Given the description of an element on the screen output the (x, y) to click on. 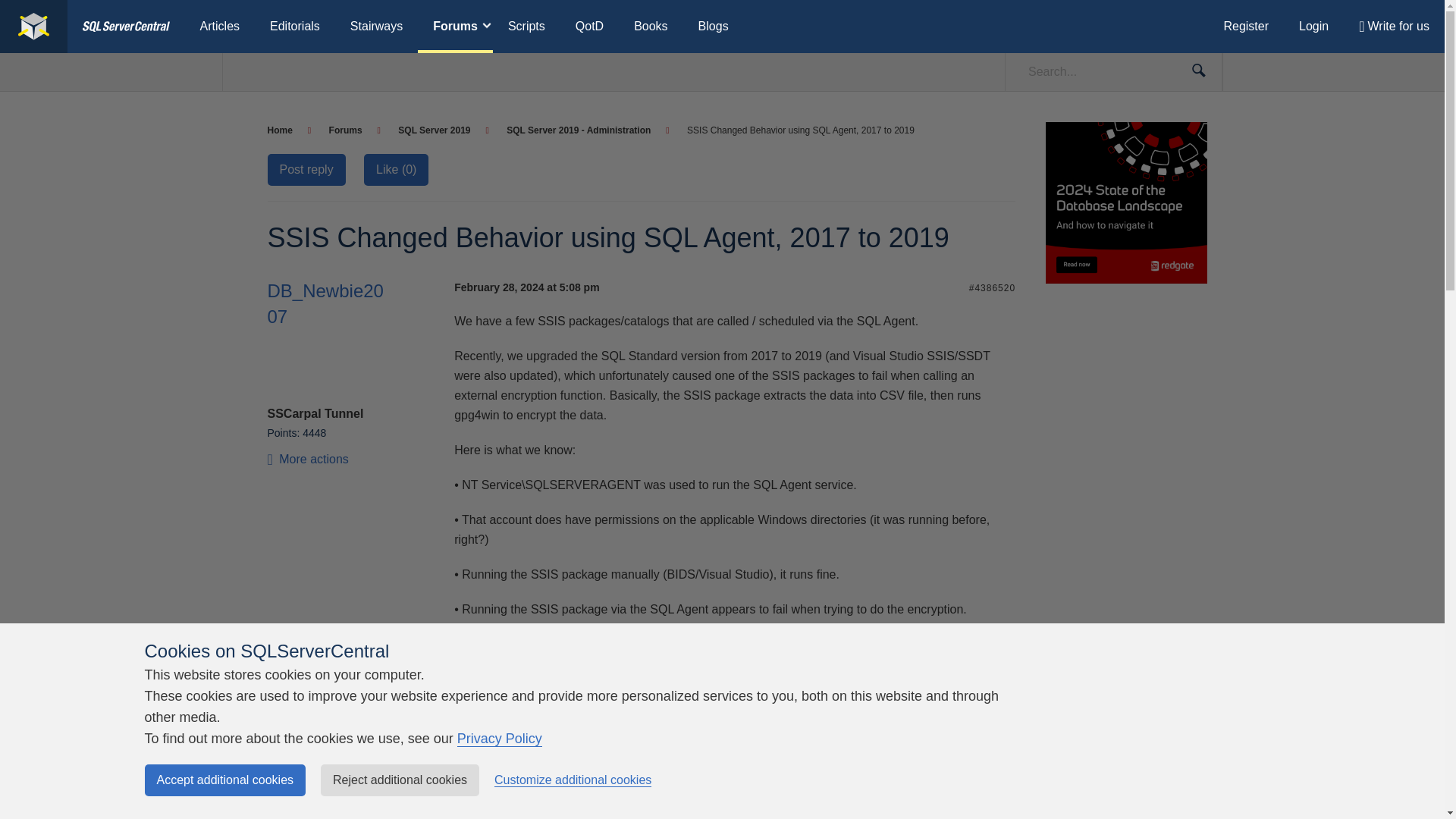
Register (1246, 26)
QotD (589, 26)
Scripts (526, 26)
Books (650, 26)
Home (288, 130)
Login (1313, 26)
Editorials (294, 26)
SQLServerCentral (33, 26)
SQLServerCentral (126, 26)
Forums (354, 130)
Articles (219, 26)
Forums (455, 26)
Stairways (375, 26)
Blogs (713, 26)
